Given the description of an element on the screen output the (x, y) to click on. 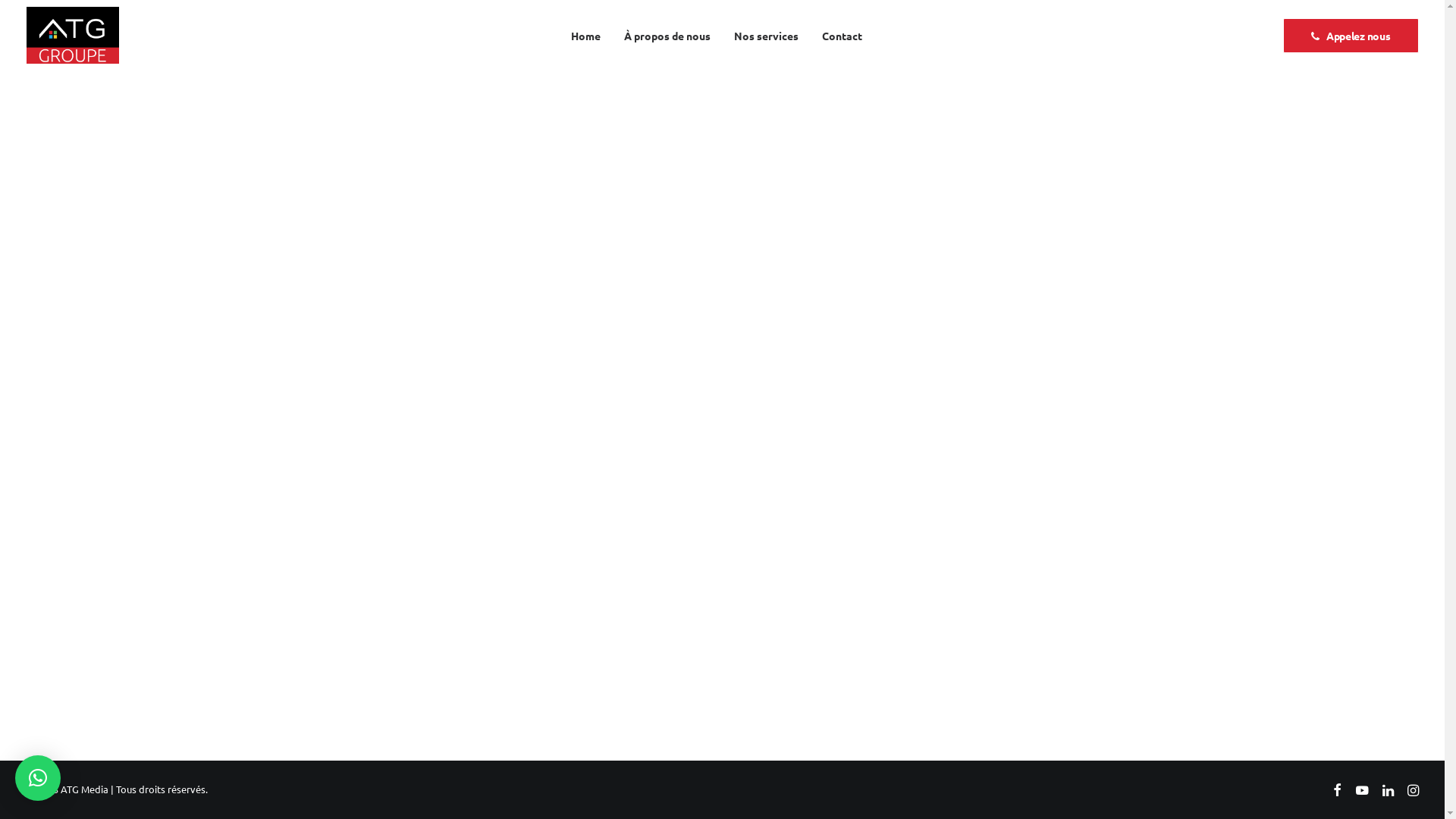
ATG Media Element type: text (84, 788)
Home Element type: text (585, 35)
Contact Element type: text (841, 35)
Appelez nous Element type: text (1350, 35)
Nos services Element type: text (766, 35)
